Given the description of an element on the screen output the (x, y) to click on. 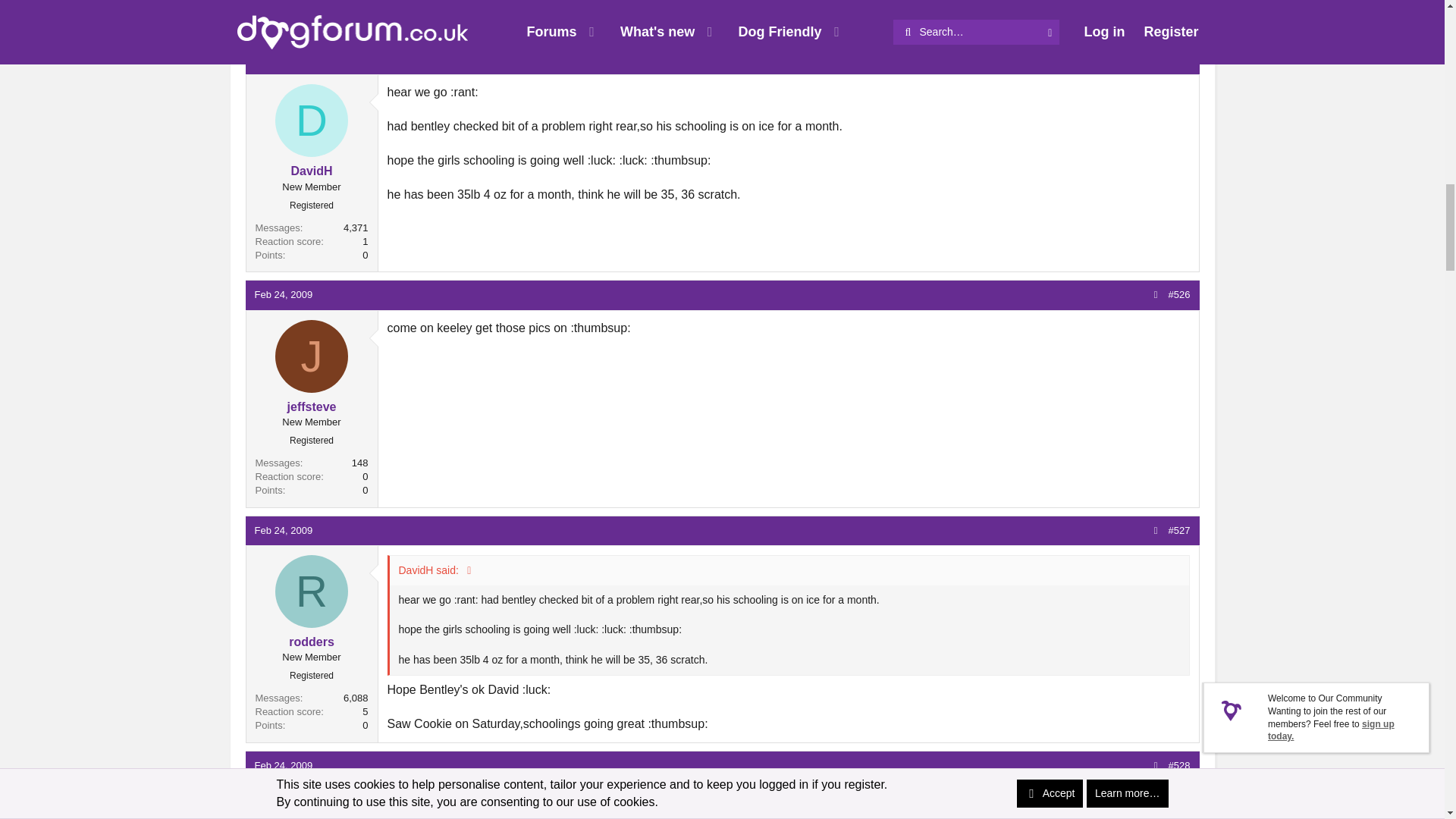
Feb 24, 2009 at 7:26 PM (283, 765)
Feb 24, 2009 at 8:17 AM (283, 294)
Feb 24, 2009 at 8:24 AM (283, 530)
Feb 23, 2009 at 10:36 PM (283, 59)
